Given the description of an element on the screen output the (x, y) to click on. 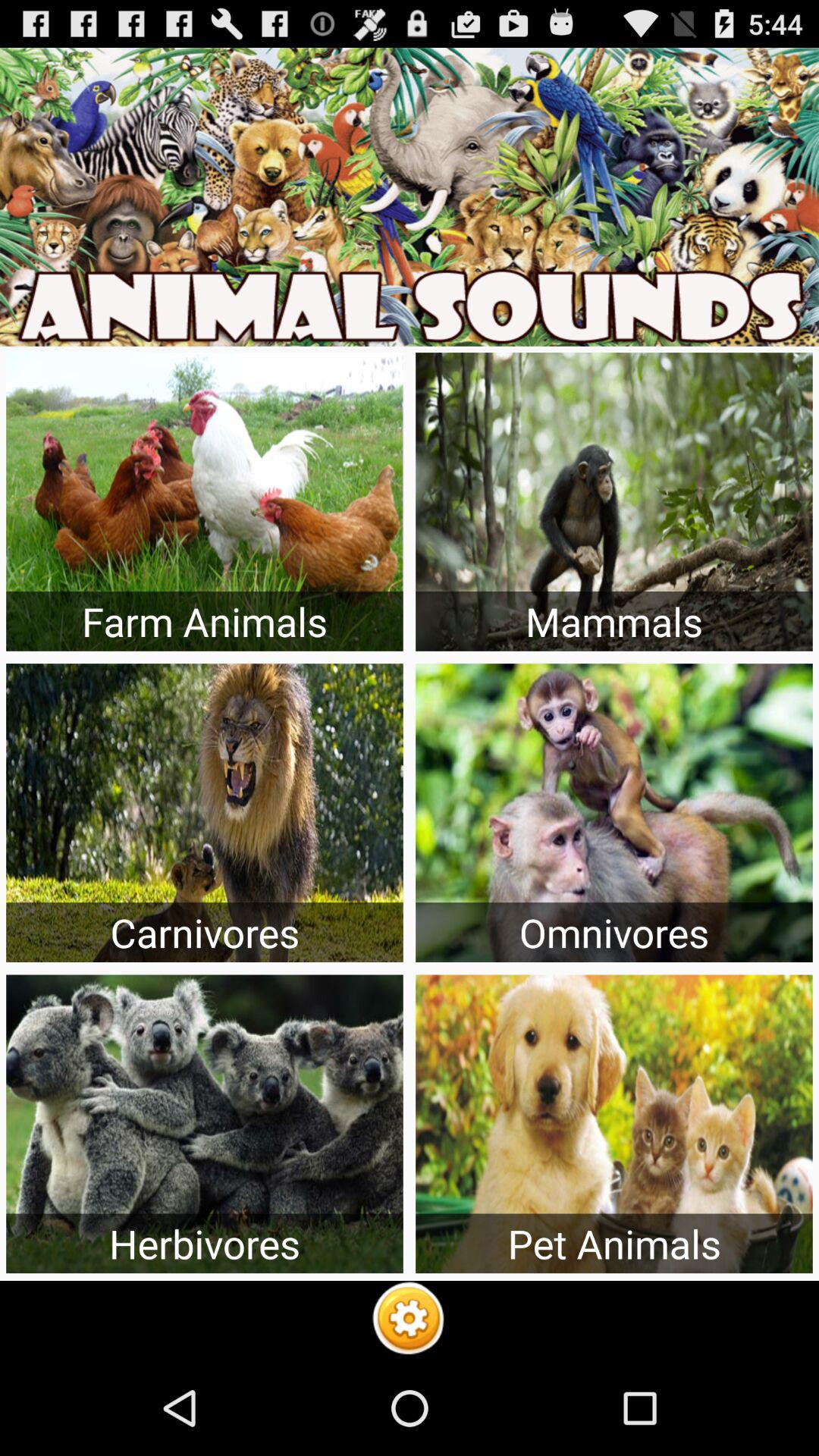
click on carnivores picture (204, 812)
click on the image next to the farm animals (614, 501)
click on the yellow colour icon at bottom of the page (408, 1320)
